Given the description of an element on the screen output the (x, y) to click on. 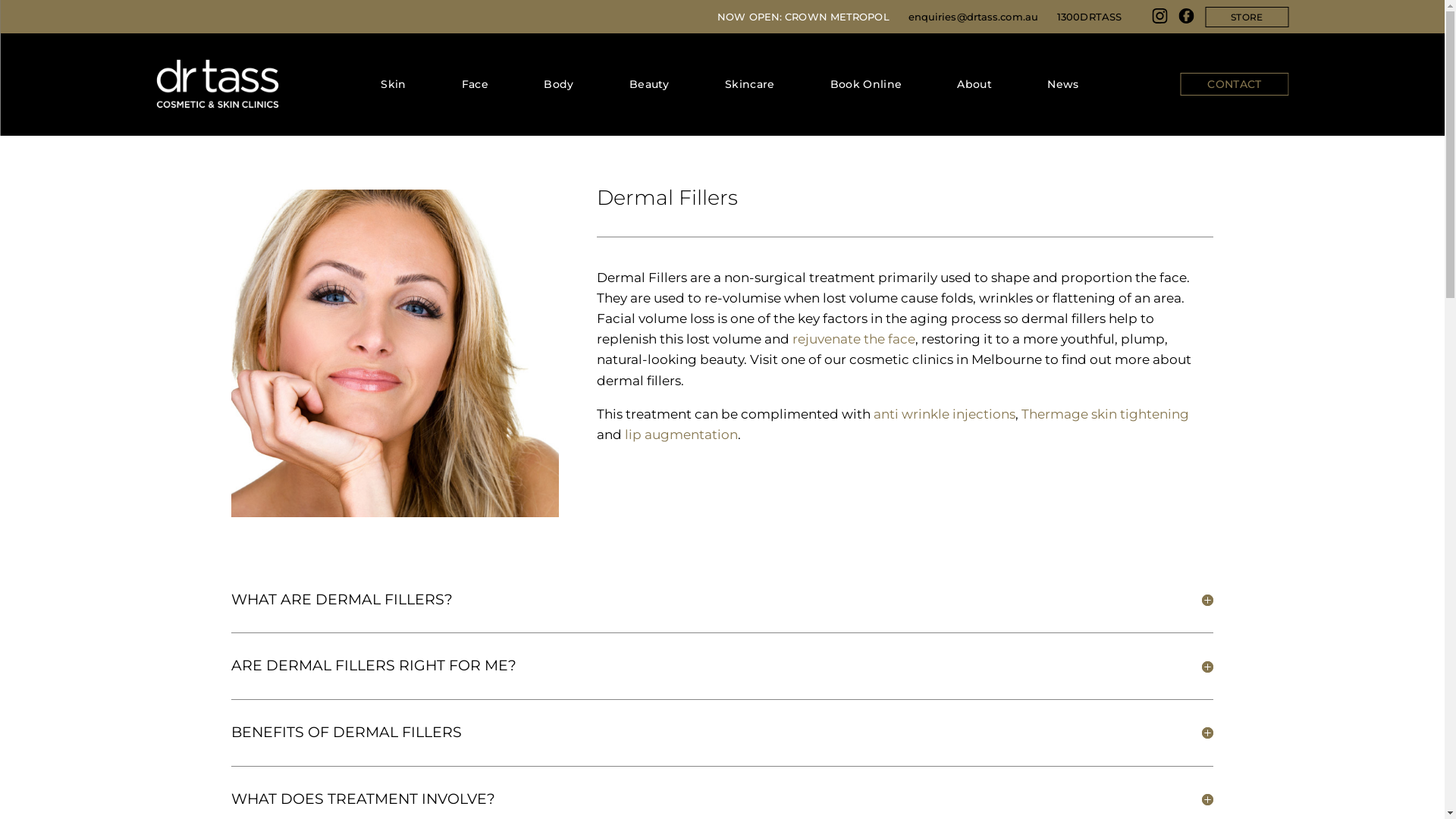
anti wrinkle injections Element type: text (944, 413)
Skin Element type: text (392, 83)
1300DRTASS Element type: text (1089, 16)
rejuvenate the face Element type: text (853, 338)
Book Online Element type: text (865, 83)
enquiries@drtass.com.au Element type: text (973, 16)
Skincare Element type: text (749, 83)
Body Element type: text (558, 83)
About Element type: text (974, 83)
STORE Element type: text (1246, 16)
lip augmentation Element type: text (680, 434)
News Element type: text (1062, 83)
TREATMENTS_FRAXEL_dermal-fillers Element type: hover (394, 353)
NOW OPEN: CROWN METROPOL Element type: text (802, 16)
Beauty Element type: text (649, 83)
CONTACT Element type: text (1233, 83)
Thermage skin tightening Element type: text (1105, 413)
Face Element type: text (474, 83)
